Given the description of an element on the screen output the (x, y) to click on. 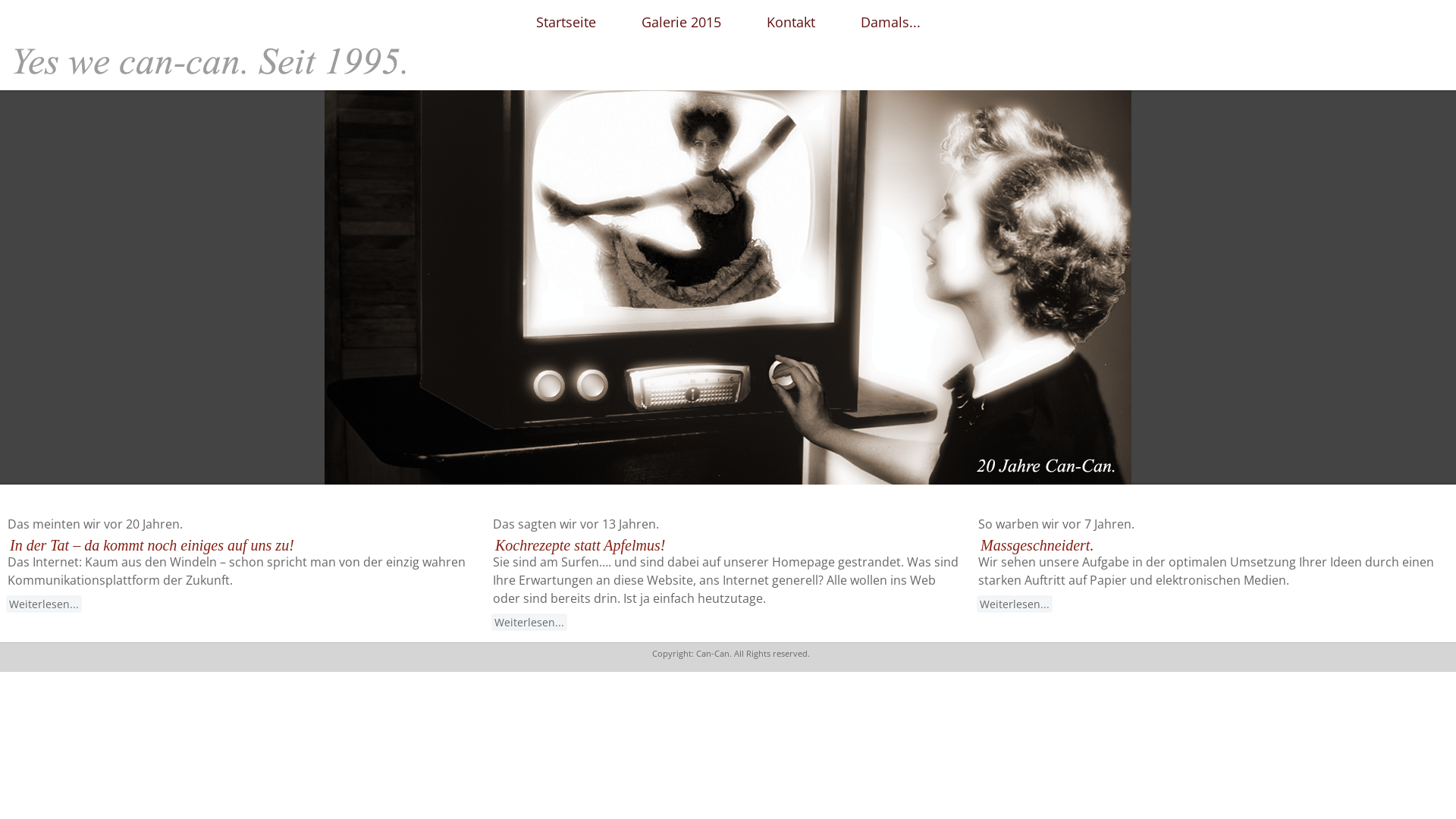
Startseite Element type: text (565, 22)
Kontakt Element type: text (790, 22)
Weiterlesen... Element type: text (43, 603)
Galerie 2015 Element type: text (680, 22)
Weiterlesen... Element type: text (1014, 603)
Weiterlesen... Element type: text (528, 622)
Damals... Element type: text (889, 22)
